Given the description of an element on the screen output the (x, y) to click on. 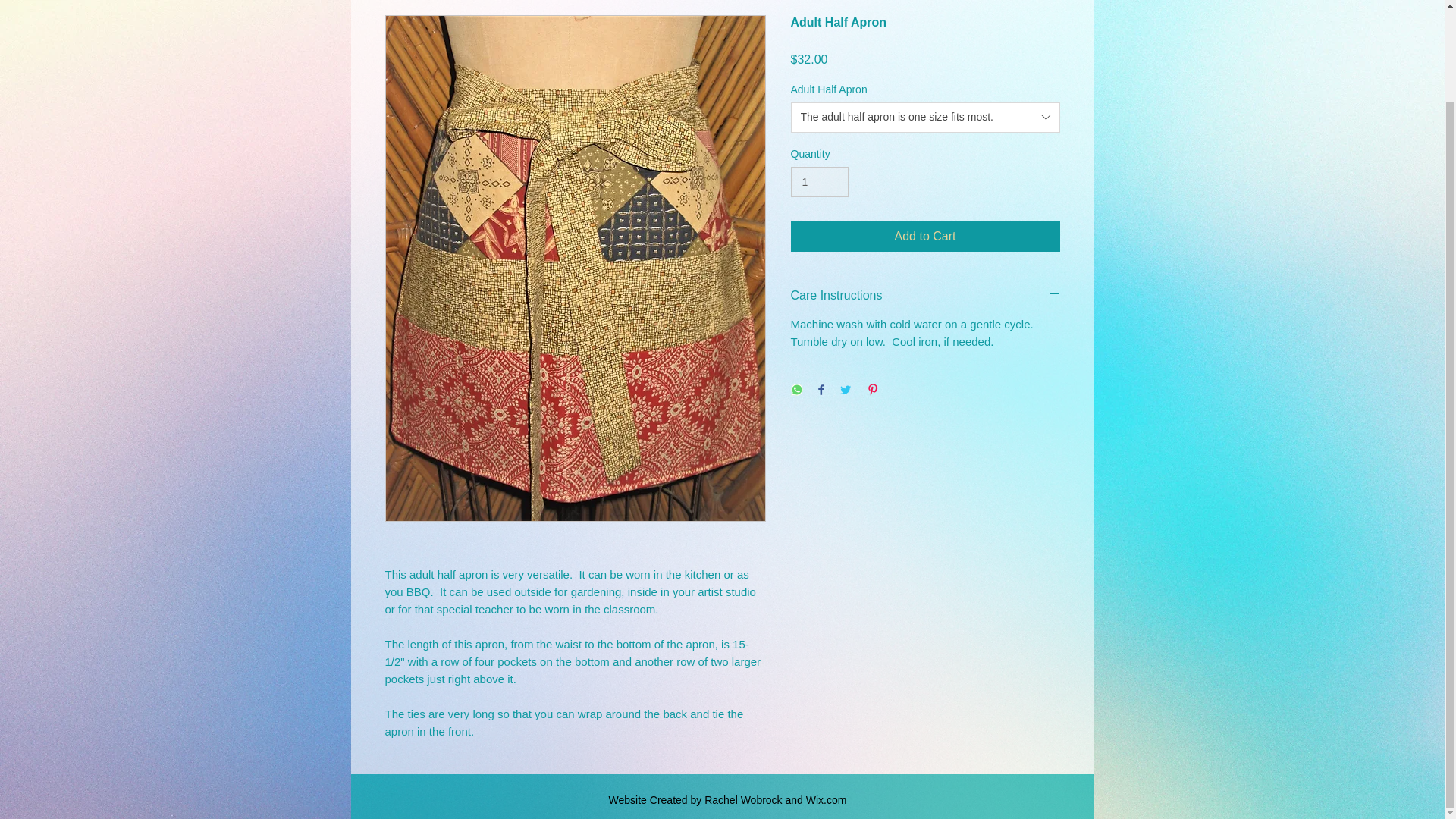
Care Instructions (924, 295)
Add to Cart (924, 236)
x.com (831, 799)
The adult half apron is one size fits most. (924, 117)
1 (818, 182)
